Given the description of an element on the screen output the (x, y) to click on. 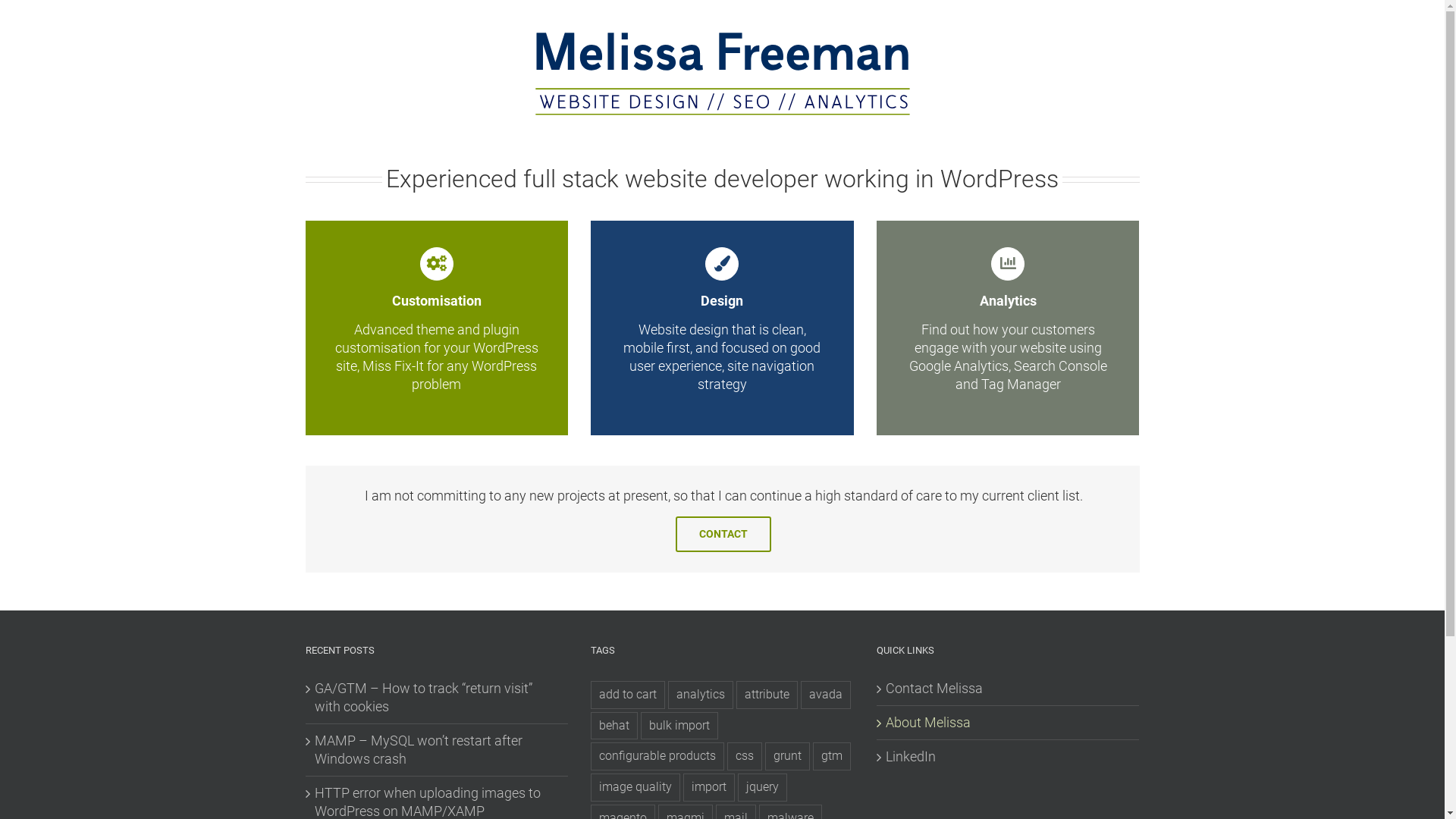
import Element type: text (708, 787)
jquery Element type: text (762, 787)
avada Element type: text (825, 694)
analytics Element type: text (700, 694)
About Melissa Element type: text (1008, 722)
gtm Element type: text (831, 756)
Contact Melissa Element type: text (1008, 688)
behat Element type: text (613, 726)
add to cart Element type: text (627, 694)
attribute Element type: text (766, 694)
bulk import Element type: text (679, 726)
configurable products Element type: text (657, 756)
css Element type: text (744, 756)
image quality Element type: text (635, 787)
LinkedIn Element type: text (1008, 756)
CONTACT Element type: text (723, 534)
grunt Element type: text (787, 756)
